Given the description of an element on the screen output the (x, y) to click on. 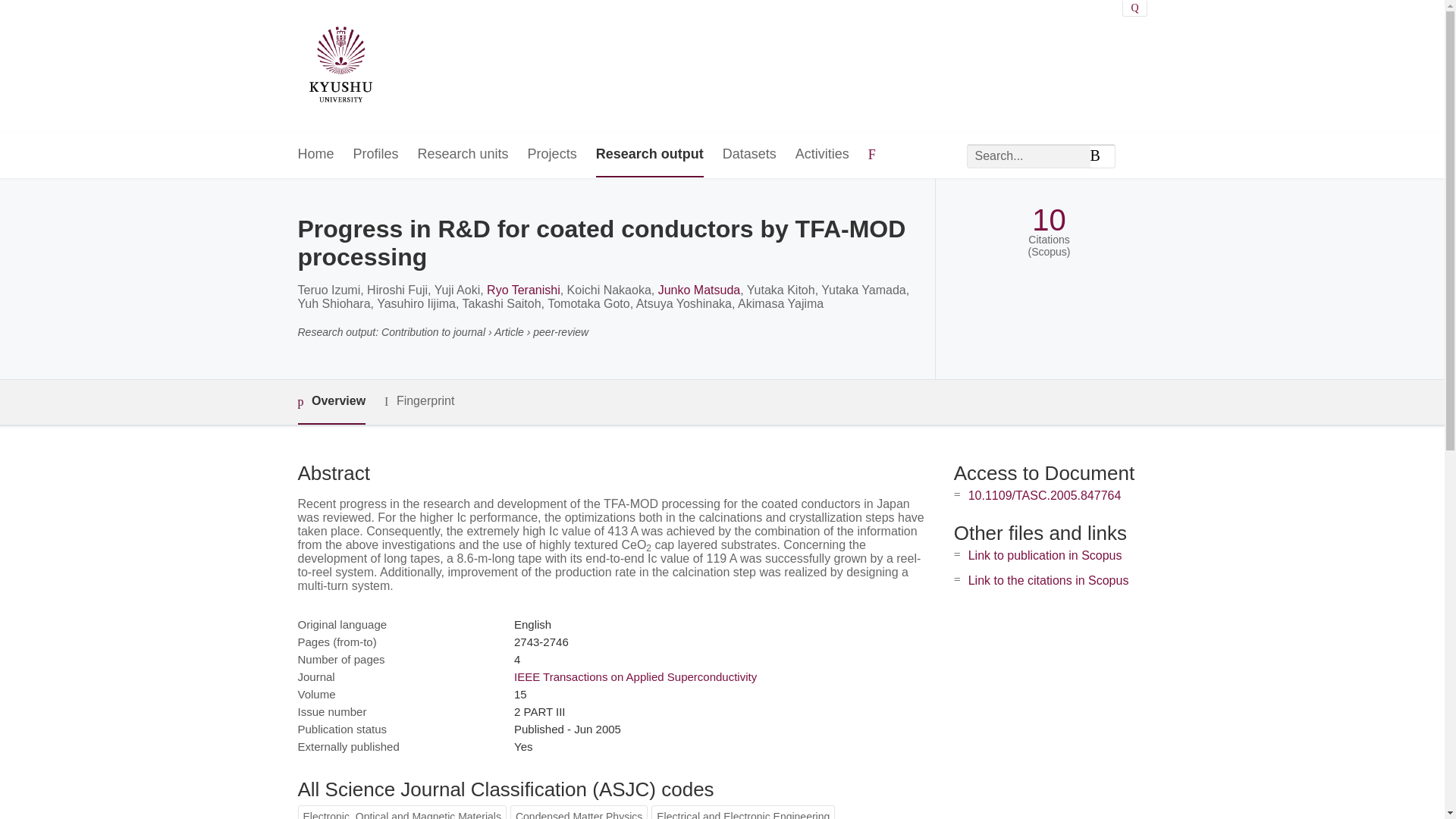
Link to publication in Scopus (1045, 554)
IEEE Transactions on Applied Superconductivity (635, 676)
Junko Matsuda (699, 289)
Research units (462, 154)
Research output (649, 154)
Datasets (749, 154)
Overview (331, 402)
Ryo Teranishi (523, 289)
Profiles (375, 154)
Projects (551, 154)
Activities (821, 154)
Link to the citations in Scopus (1048, 580)
Fingerprint (419, 401)
10 (1048, 220)
